Given the description of an element on the screen output the (x, y) to click on. 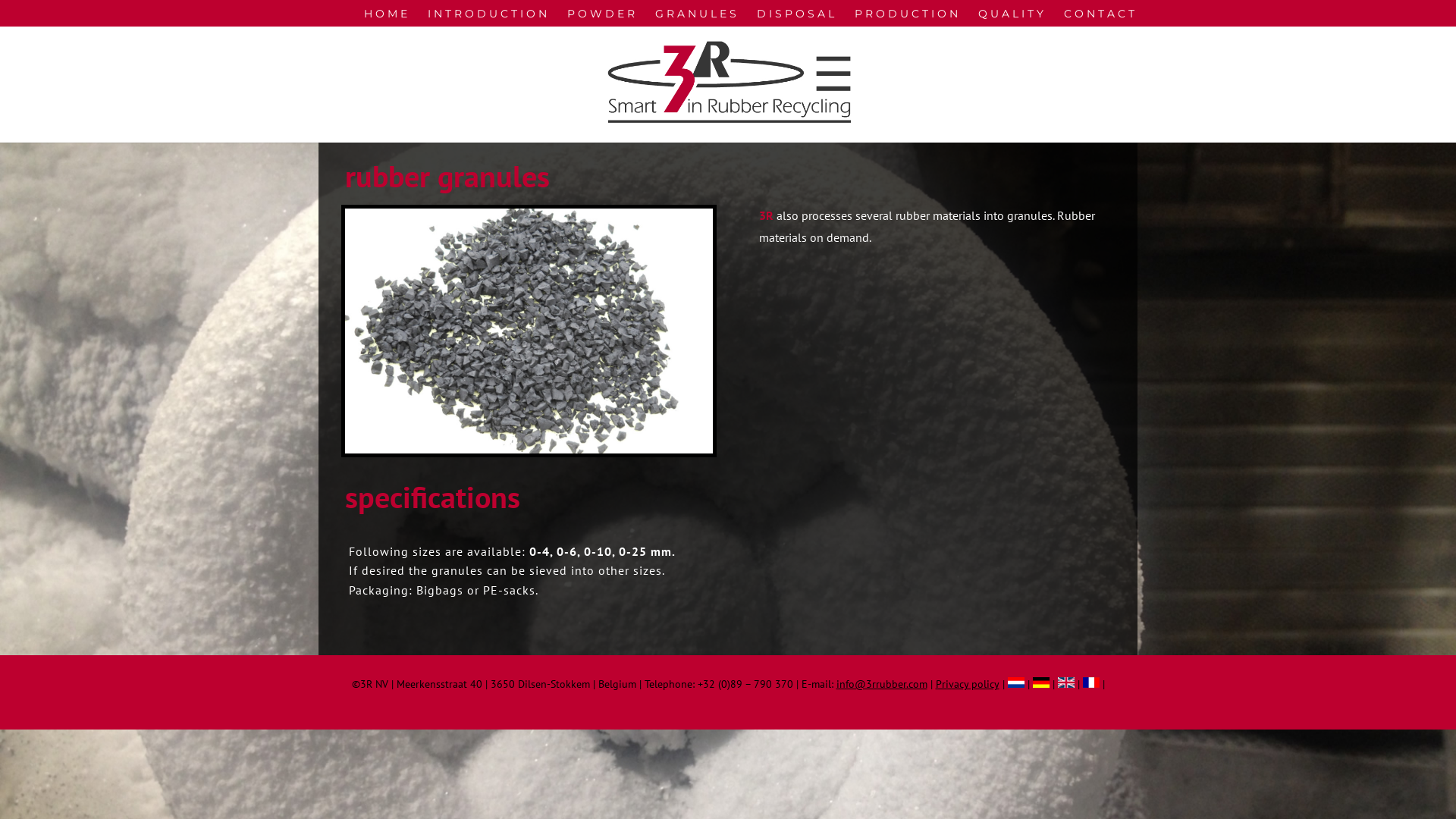
CONTACT Element type: text (1100, 16)
HOME Element type: text (387, 16)
QUALITY Element type: text (1012, 16)
GRANULES Element type: text (697, 16)
Privacy policy Element type: text (967, 683)
info@3rrubber.com Element type: text (880, 683)
DISPOSAL Element type: text (796, 16)
INTRODUCTION Element type: text (488, 16)
POWDER Element type: text (602, 16)
PRODUCTION Element type: text (907, 16)
